Given the description of an element on the screen output the (x, y) to click on. 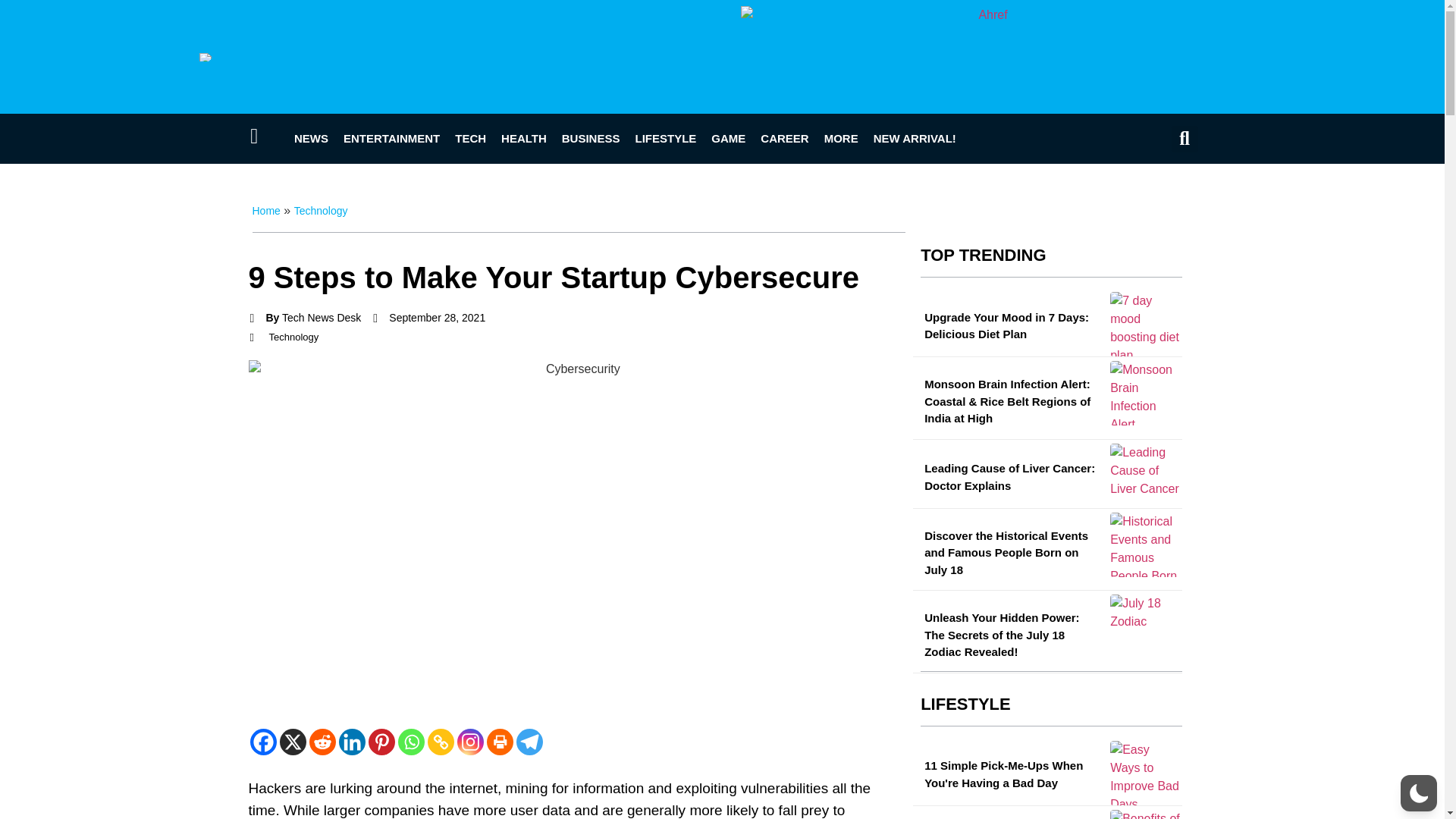
Instagram (470, 741)
ENTERTAINMENT (391, 138)
Linkedin (351, 741)
Whatsapp (410, 741)
Reddit (322, 741)
BUSINESS (590, 138)
Print (499, 741)
Facebook (263, 741)
GAME (727, 138)
X (292, 741)
TECH (469, 138)
Telegram (528, 741)
HEALTH (523, 138)
LIFESTYLE (665, 138)
NEWS (311, 138)
